Given the description of an element on the screen output the (x, y) to click on. 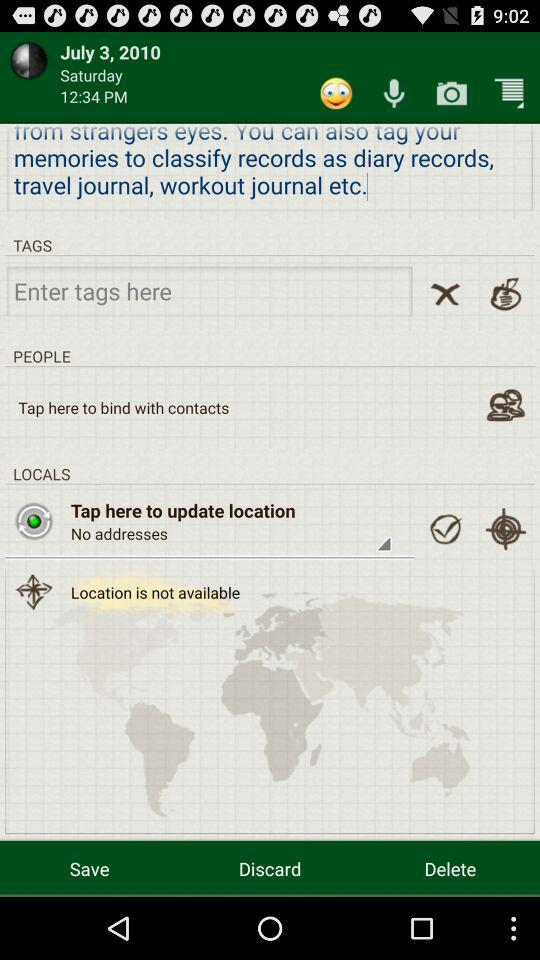
enter tags (209, 290)
